Given the description of an element on the screen output the (x, y) to click on. 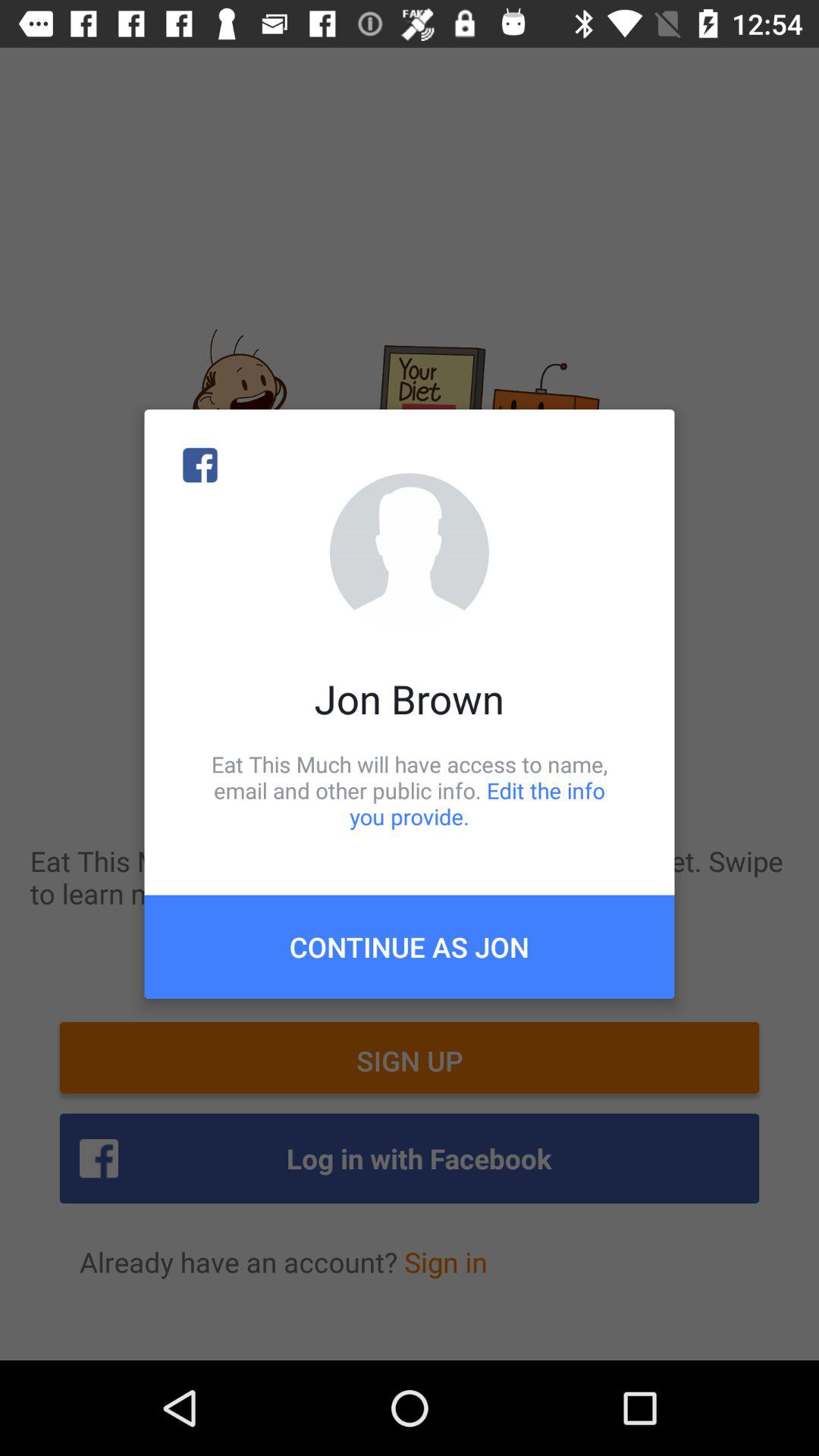
click the item below jon brown item (409, 790)
